Given the description of an element on the screen output the (x, y) to click on. 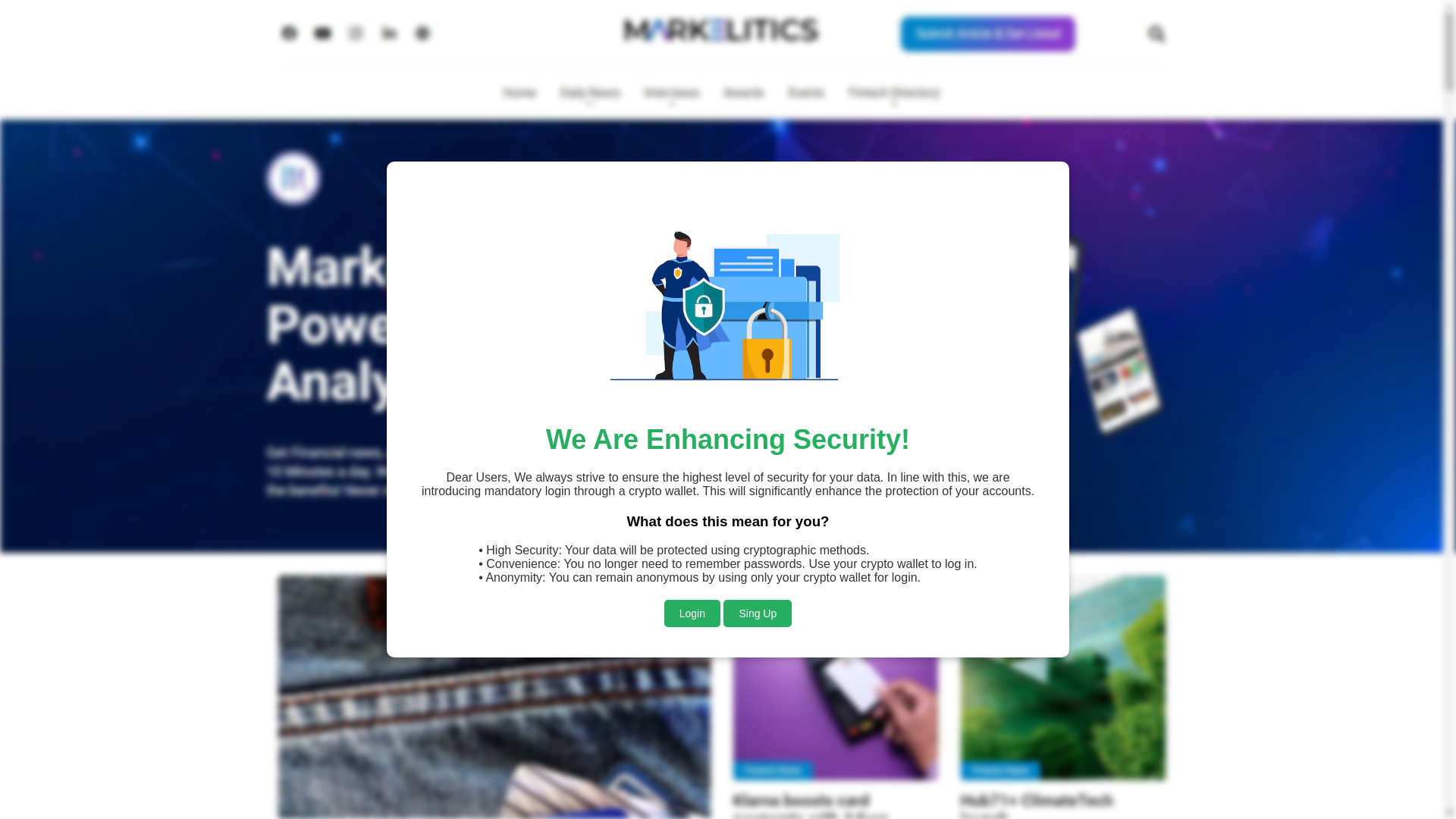
Sing Up (757, 575)
Login (691, 574)
